Given the description of an element on the screen output the (x, y) to click on. 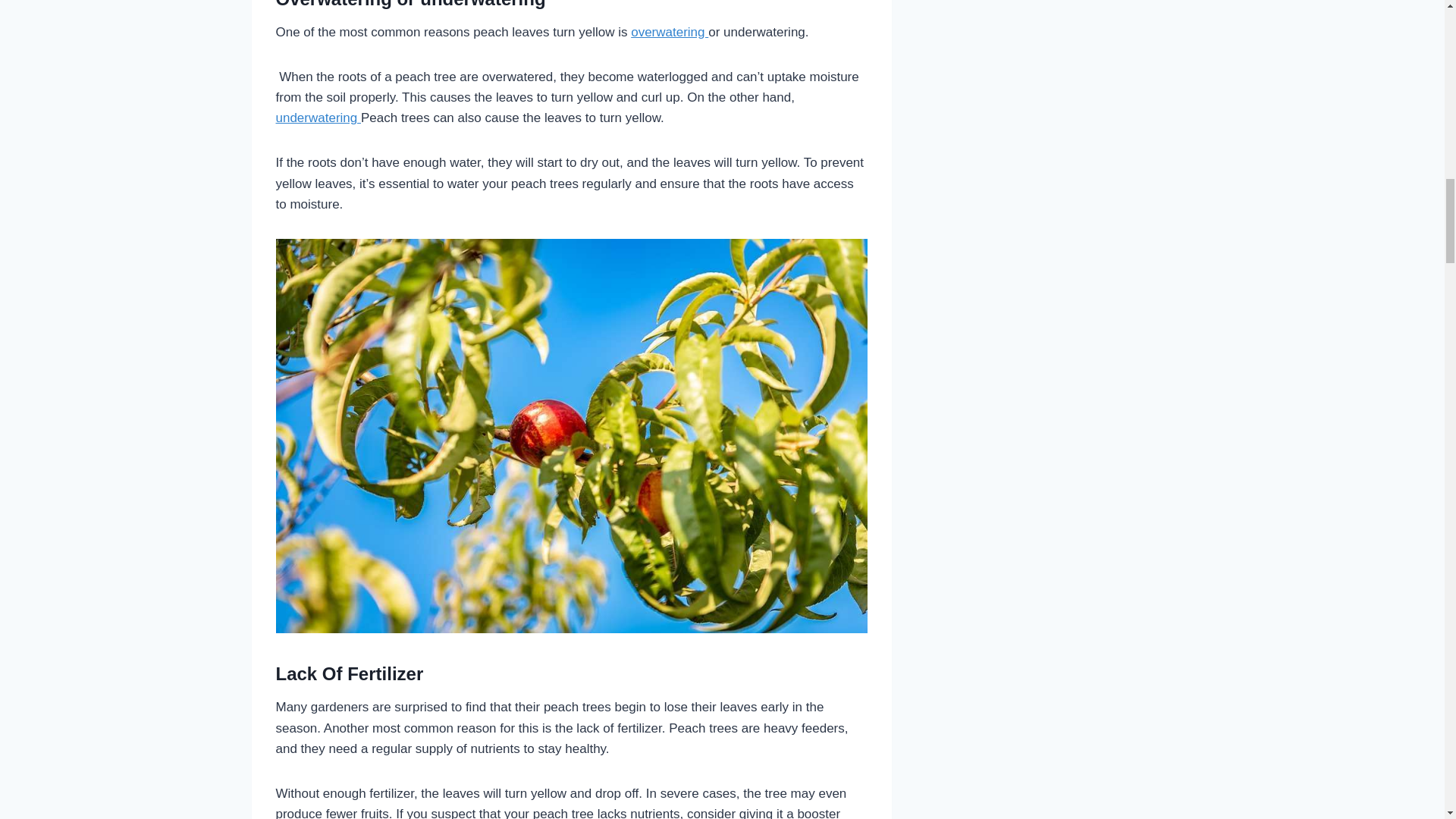
underwatering (318, 117)
overwatering (668, 32)
